Given the description of an element on the screen output the (x, y) to click on. 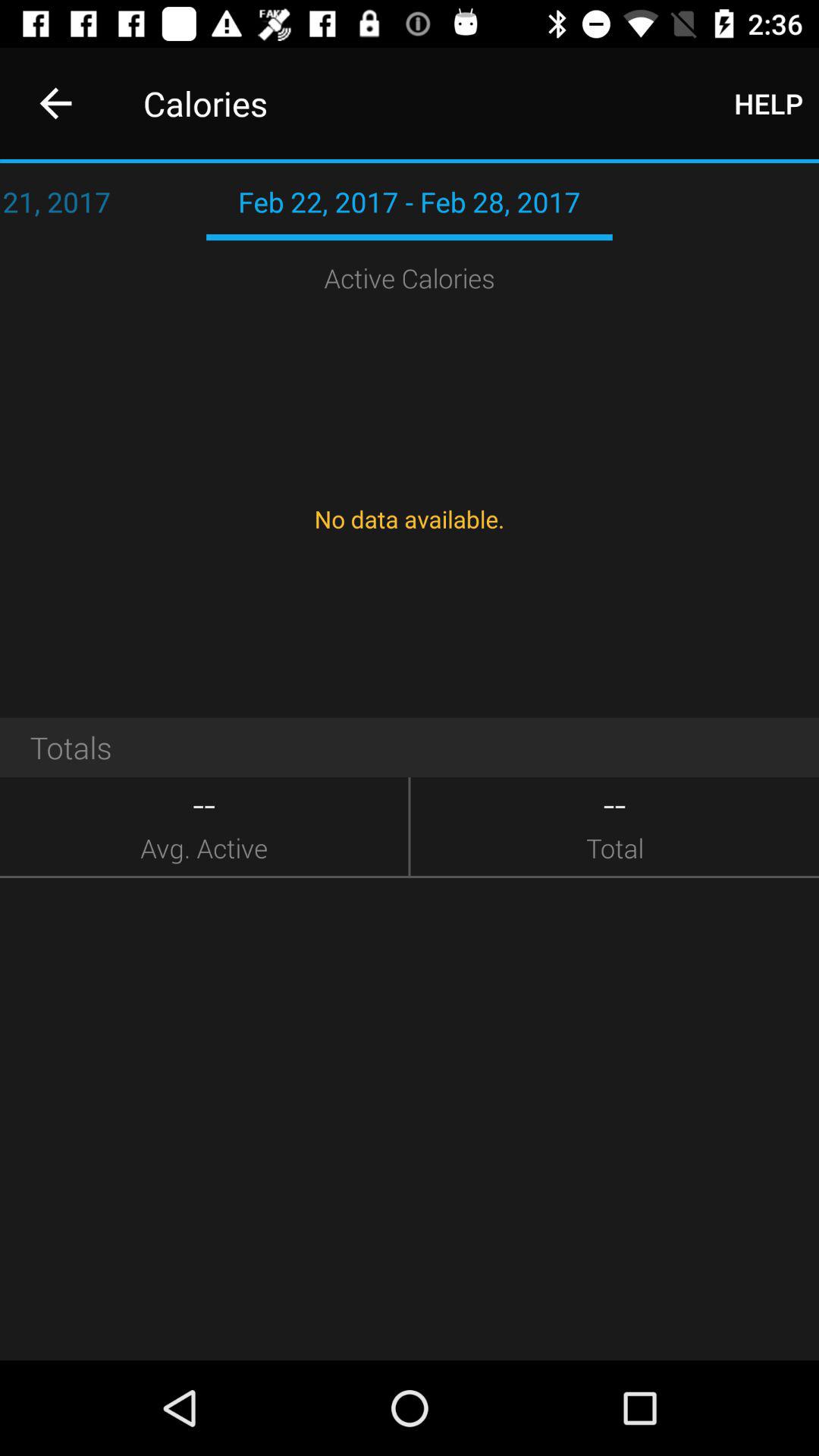
launch the item next to the calories (55, 103)
